Given the description of an element on the screen output the (x, y) to click on. 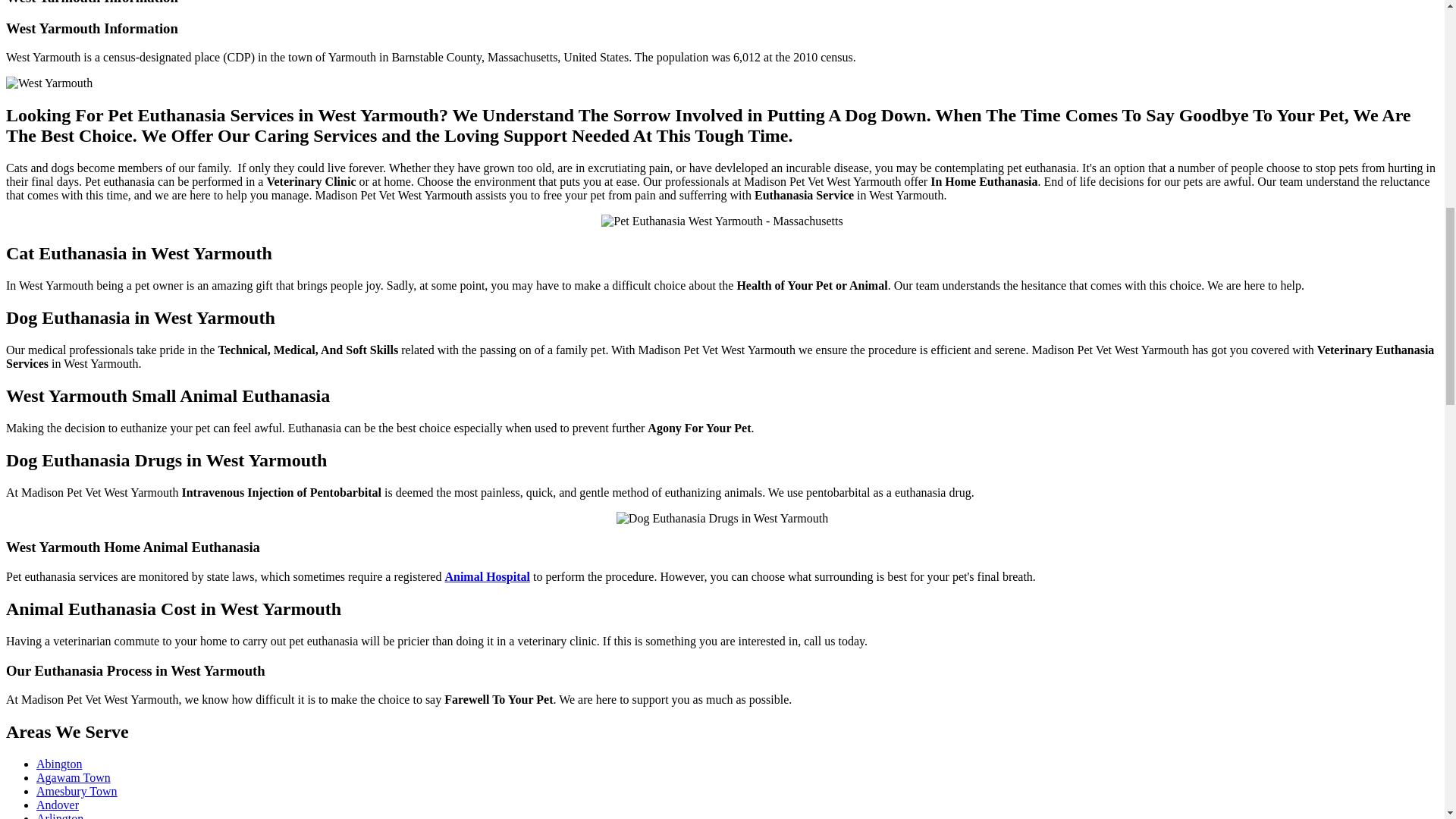
Andover (57, 804)
Abington (58, 763)
Agawam Town (73, 777)
Animal Hospital (486, 576)
Amesbury Town (76, 790)
